Given the description of an element on the screen output the (x, y) to click on. 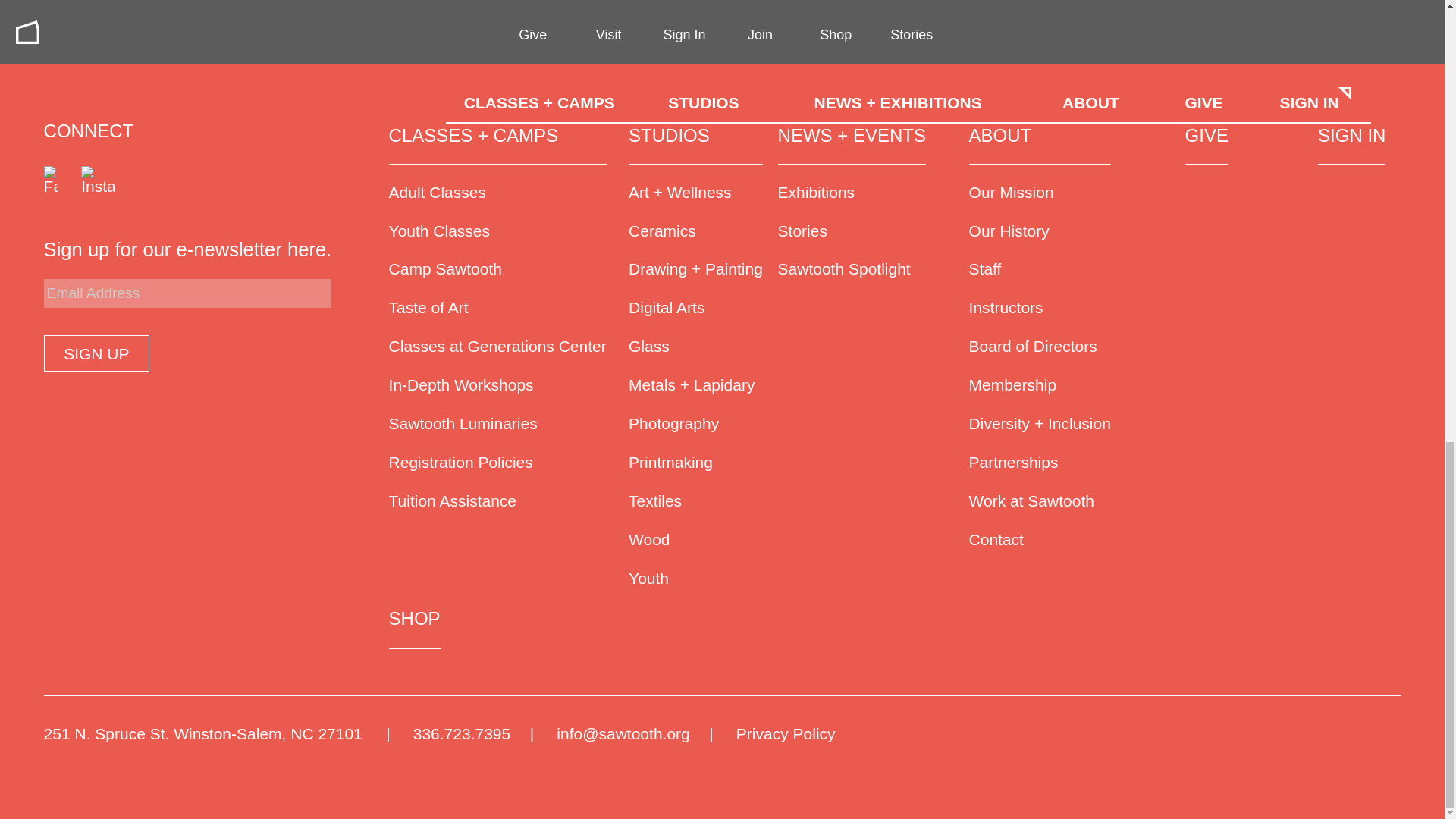
Sign Up (96, 353)
